Given the description of an element on the screen output the (x, y) to click on. 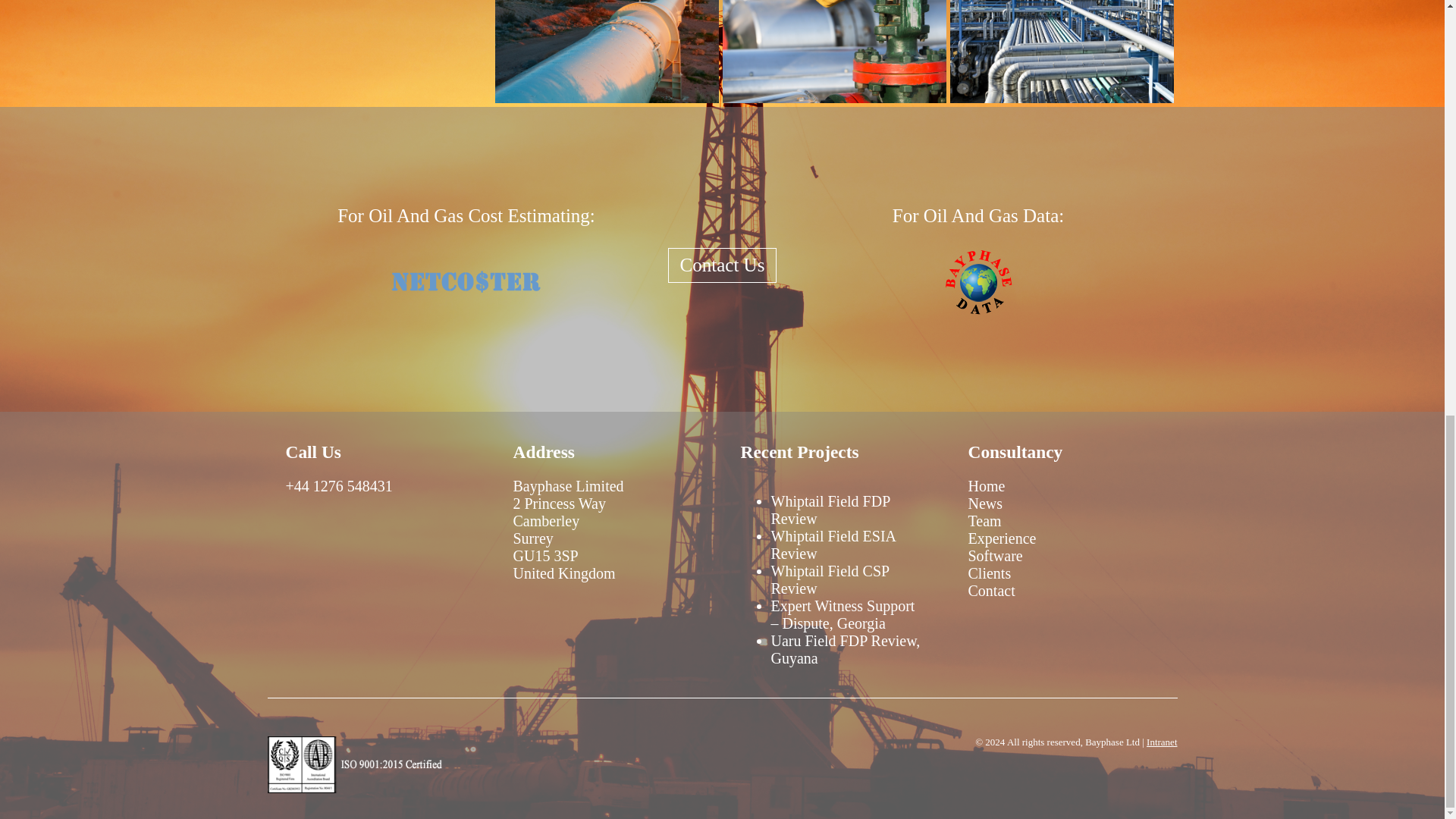
Software (995, 555)
News (985, 503)
Home (986, 485)
Whiptail Field CSP Review (829, 579)
Contact Us (722, 265)
Uaru Field FDP Review, Guyana (845, 649)
Experience (1001, 538)
Whiptail Field ESIA Review (832, 544)
Intranet (1161, 741)
Whiptail Field FDP Review (829, 510)
Contact (991, 590)
Team (984, 520)
Clients (989, 573)
